Given the description of an element on the screen output the (x, y) to click on. 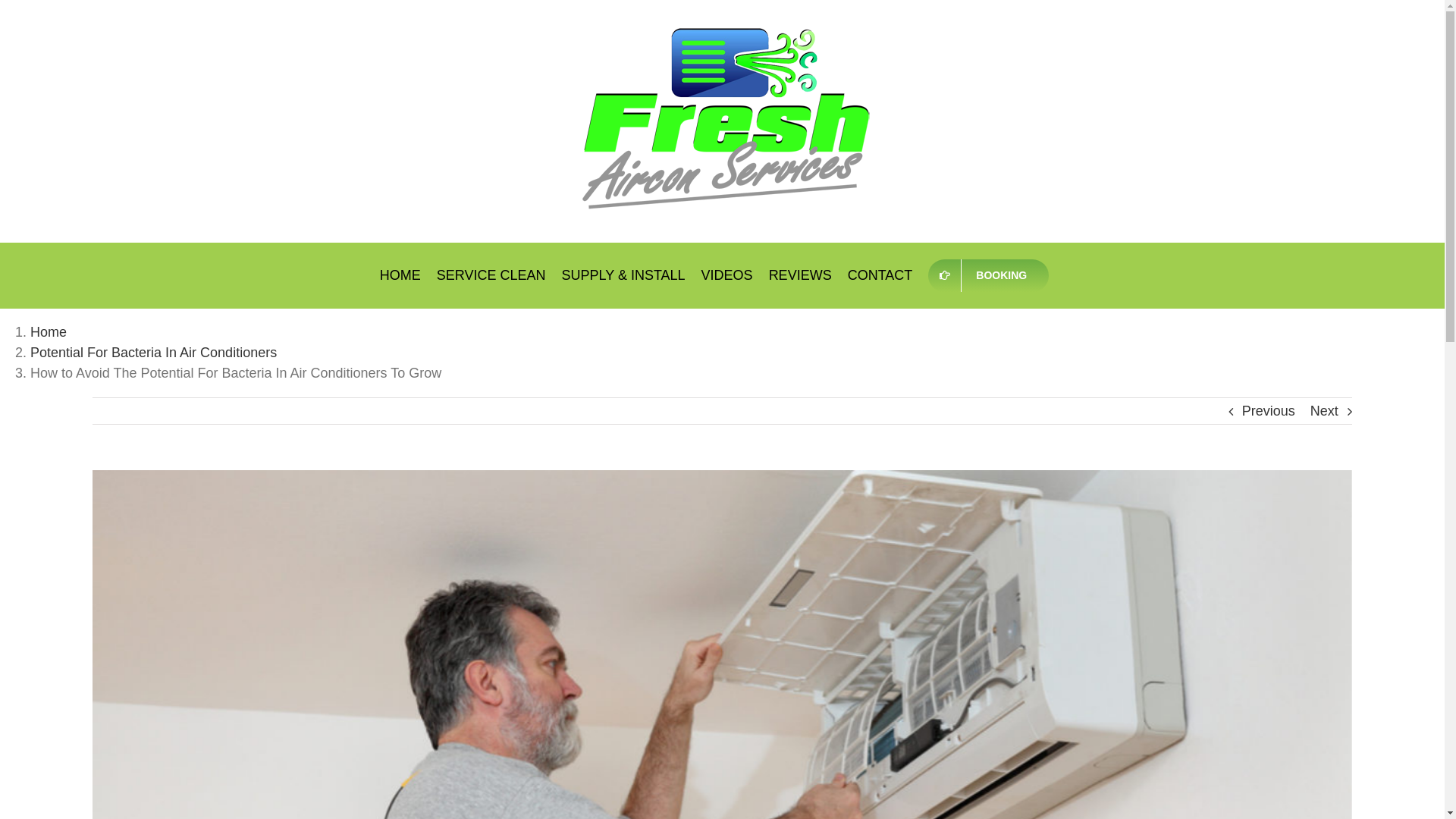
REVIEWS Element type: text (799, 274)
CONTACT Element type: text (880, 274)
SERVICE CLEAN Element type: text (491, 274)
Next Element type: text (1324, 410)
BOOKING Element type: text (988, 274)
Previous Element type: text (1268, 410)
Home Element type: text (48, 331)
VIDEOS Element type: text (727, 274)
Potential For Bacteria In Air Conditioners Element type: text (153, 352)
SUPPLY & INSTALL Element type: text (623, 274)
HOME Element type: text (399, 274)
